Given the description of an element on the screen output the (x, y) to click on. 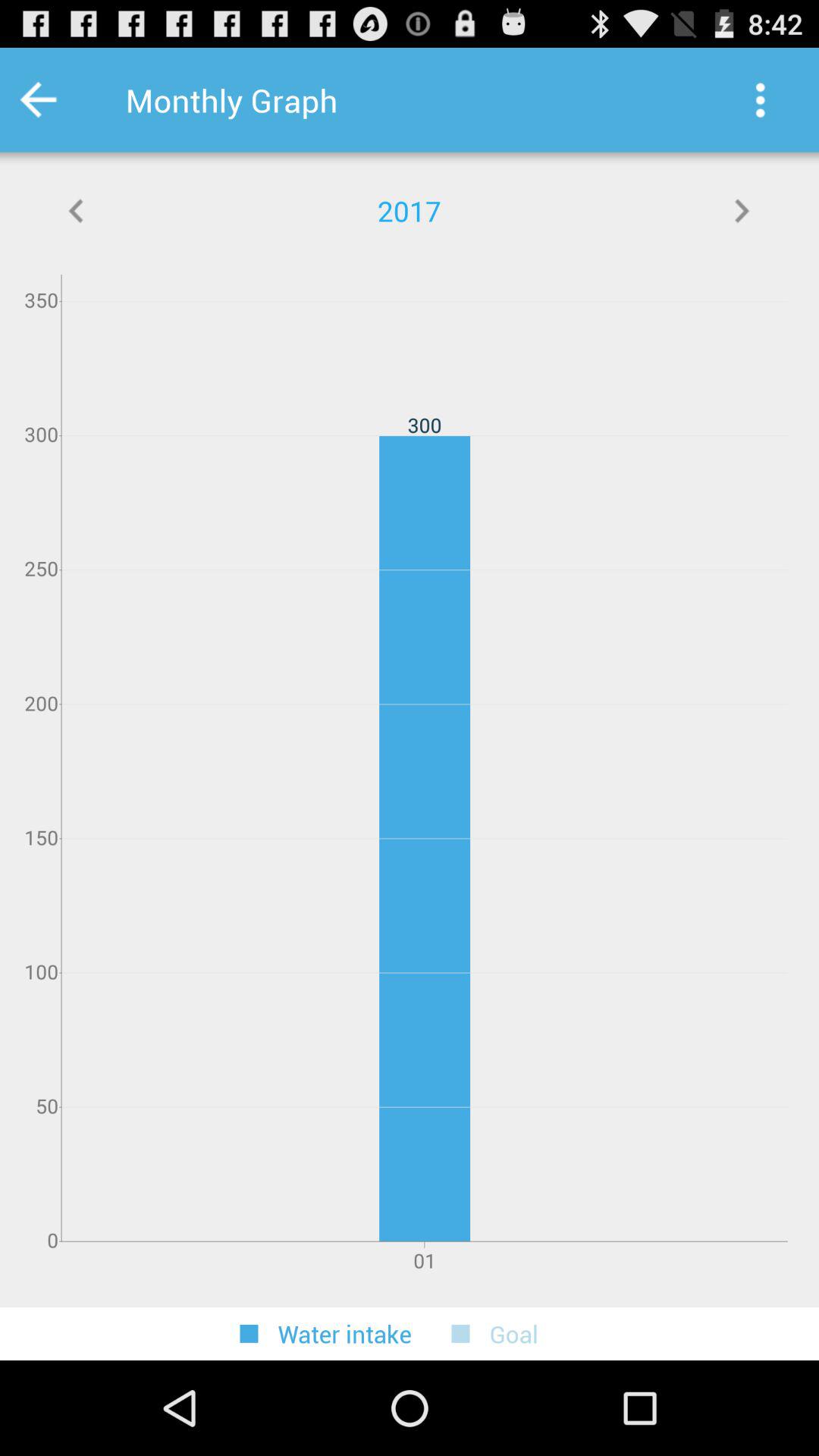
displays more graph info (76, 210)
